Given the description of an element on the screen output the (x, y) to click on. 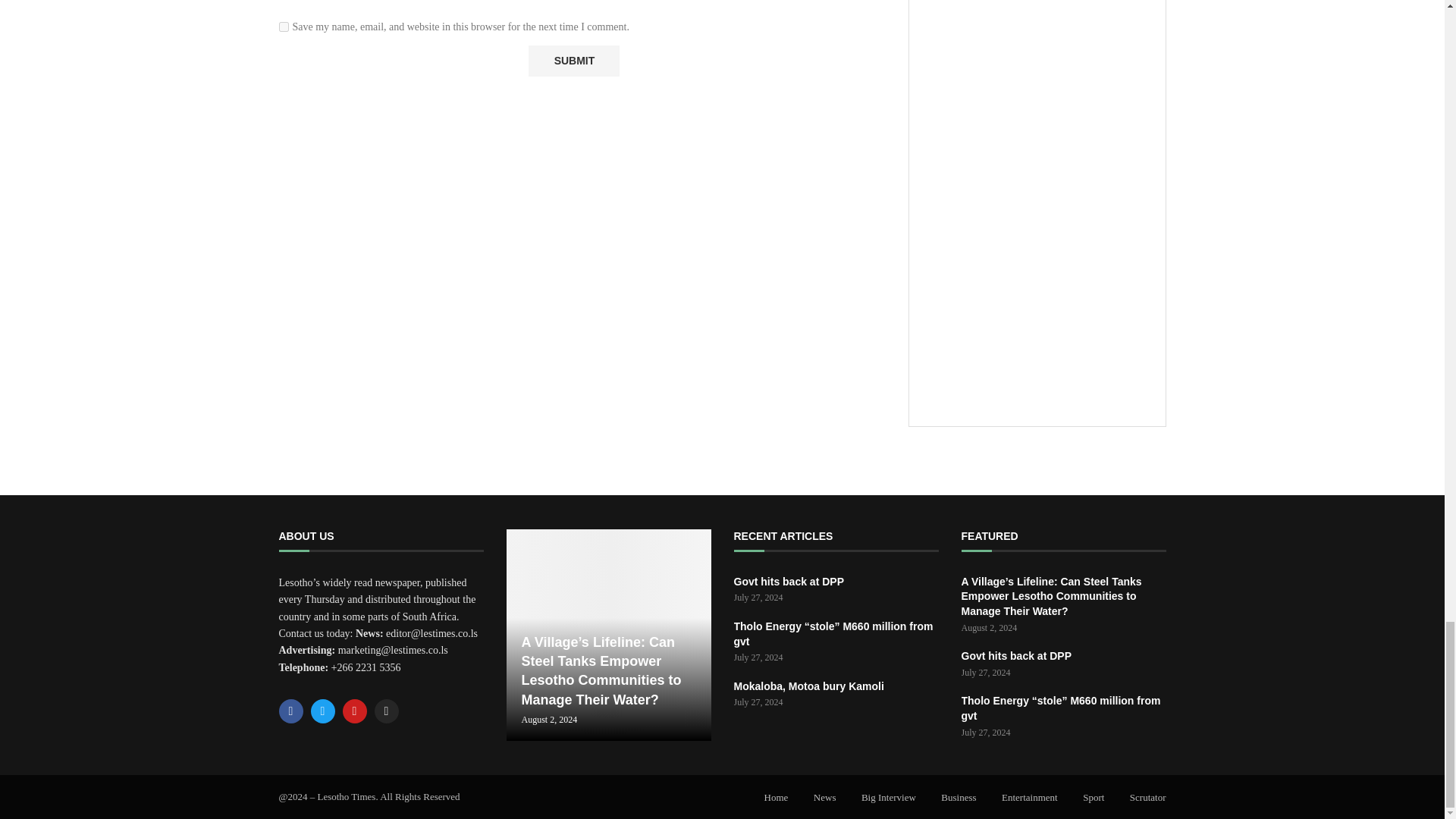
Submit (574, 60)
yes (283, 26)
